Given the description of an element on the screen output the (x, y) to click on. 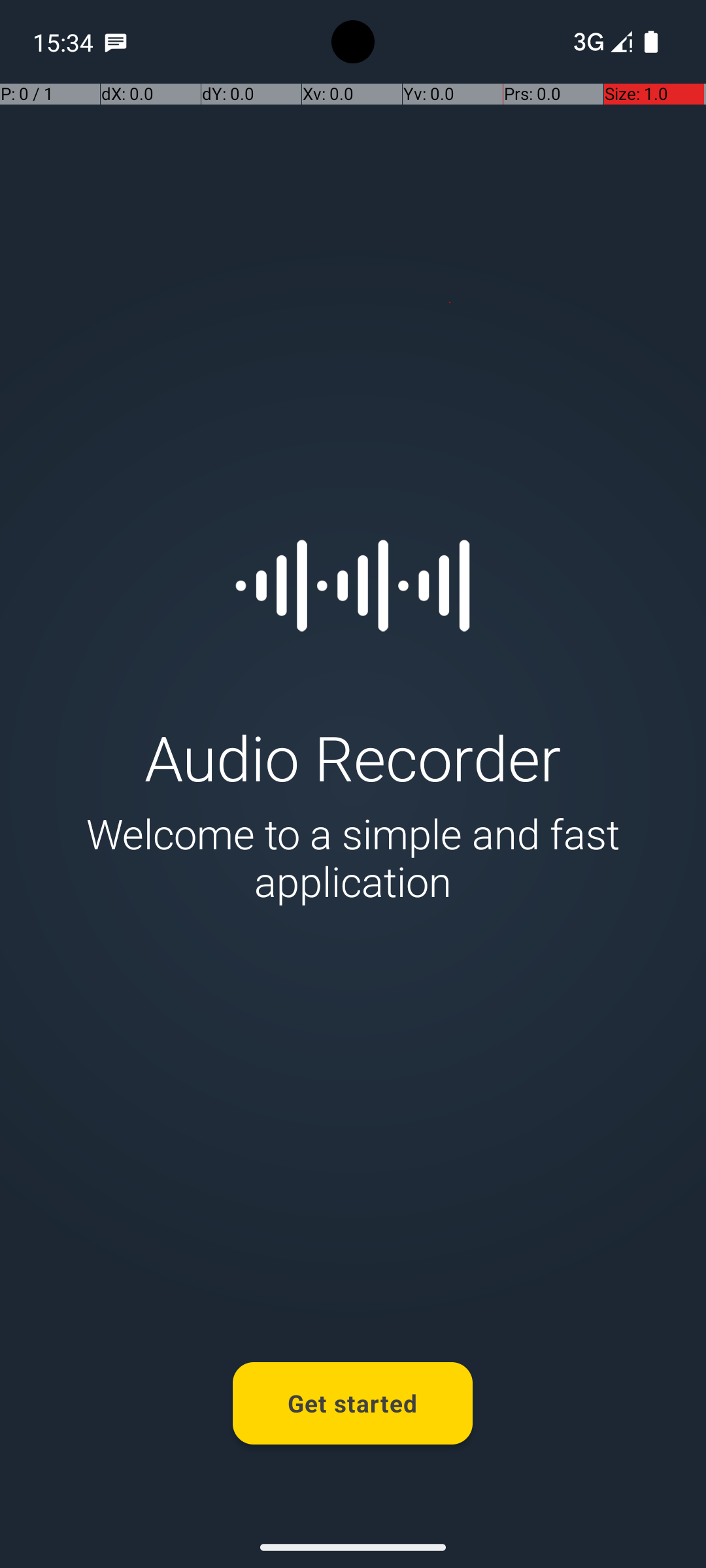
Get started Element type: android.widget.Button (352, 1403)
Audio Recorder Element type: android.widget.TextView (352, 756)
Welcome to a simple and fast application Element type: android.widget.TextView (352, 856)
SMS Messenger notification: Petar Gonzalez Element type: android.widget.ImageView (115, 41)
Phone two bars. Element type: android.widget.FrameLayout (600, 41)
